Given the description of an element on the screen output the (x, y) to click on. 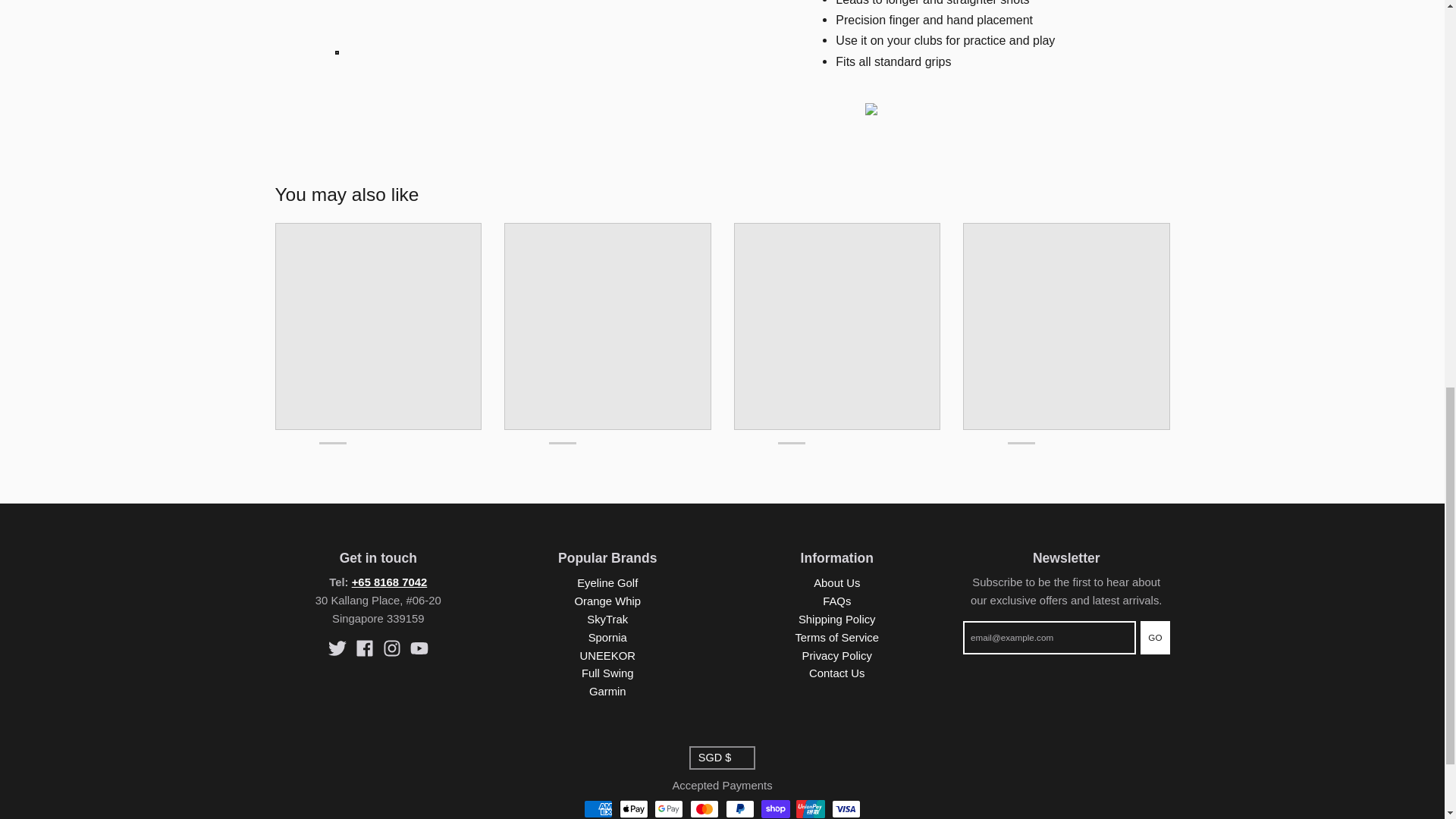
Facebook - The Learning Tee Pte Ltd. (364, 648)
Twitter - The Learning Tee Pte Ltd. (337, 648)
tel:6581687042 (390, 582)
YouTube - The Learning Tee Pte Ltd. (419, 648)
Instagram - The Learning Tee Pte Ltd. (391, 648)
